Given the description of an element on the screen output the (x, y) to click on. 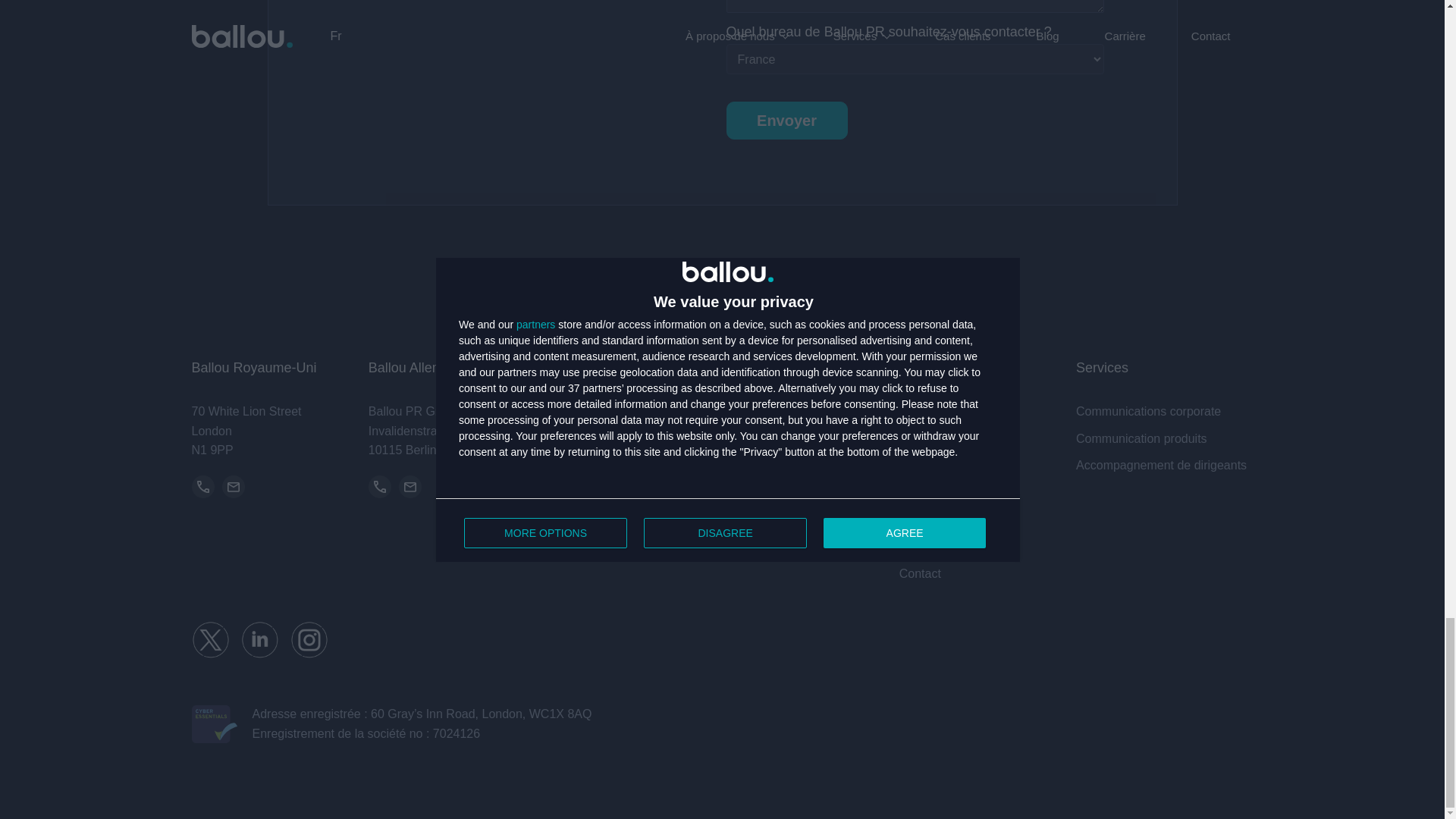
Submit (786, 120)
Nos clients (987, 465)
Envoyer (786, 120)
Envoyer (786, 120)
Cas clients (987, 492)
Blog (987, 519)
